Given the description of an element on the screen output the (x, y) to click on. 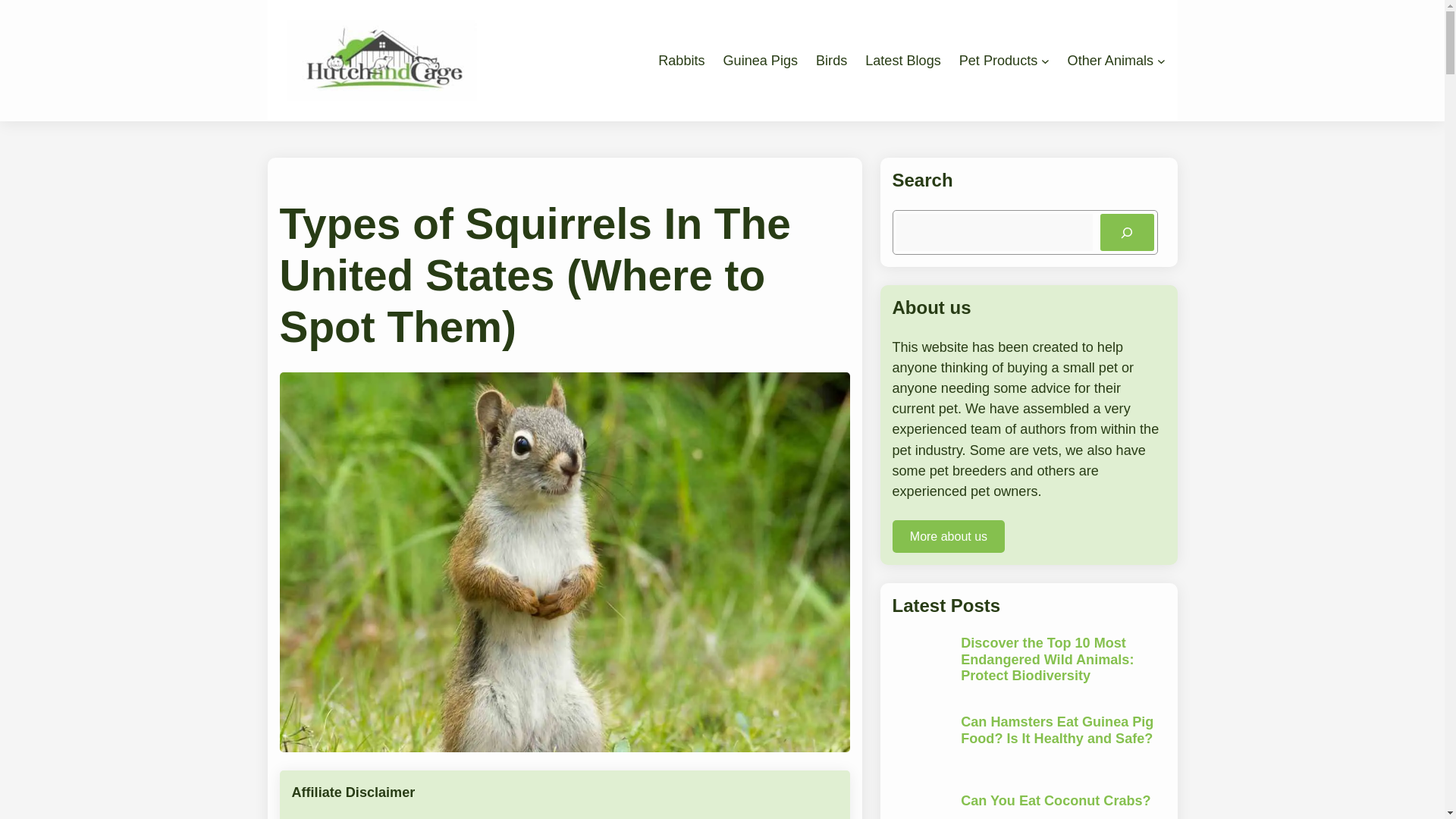
Rabbits (681, 60)
Birds (831, 60)
Guinea Pigs (760, 60)
Other Animals (1110, 60)
Latest Blogs (902, 60)
Pet Products (998, 60)
